Given the description of an element on the screen output the (x, y) to click on. 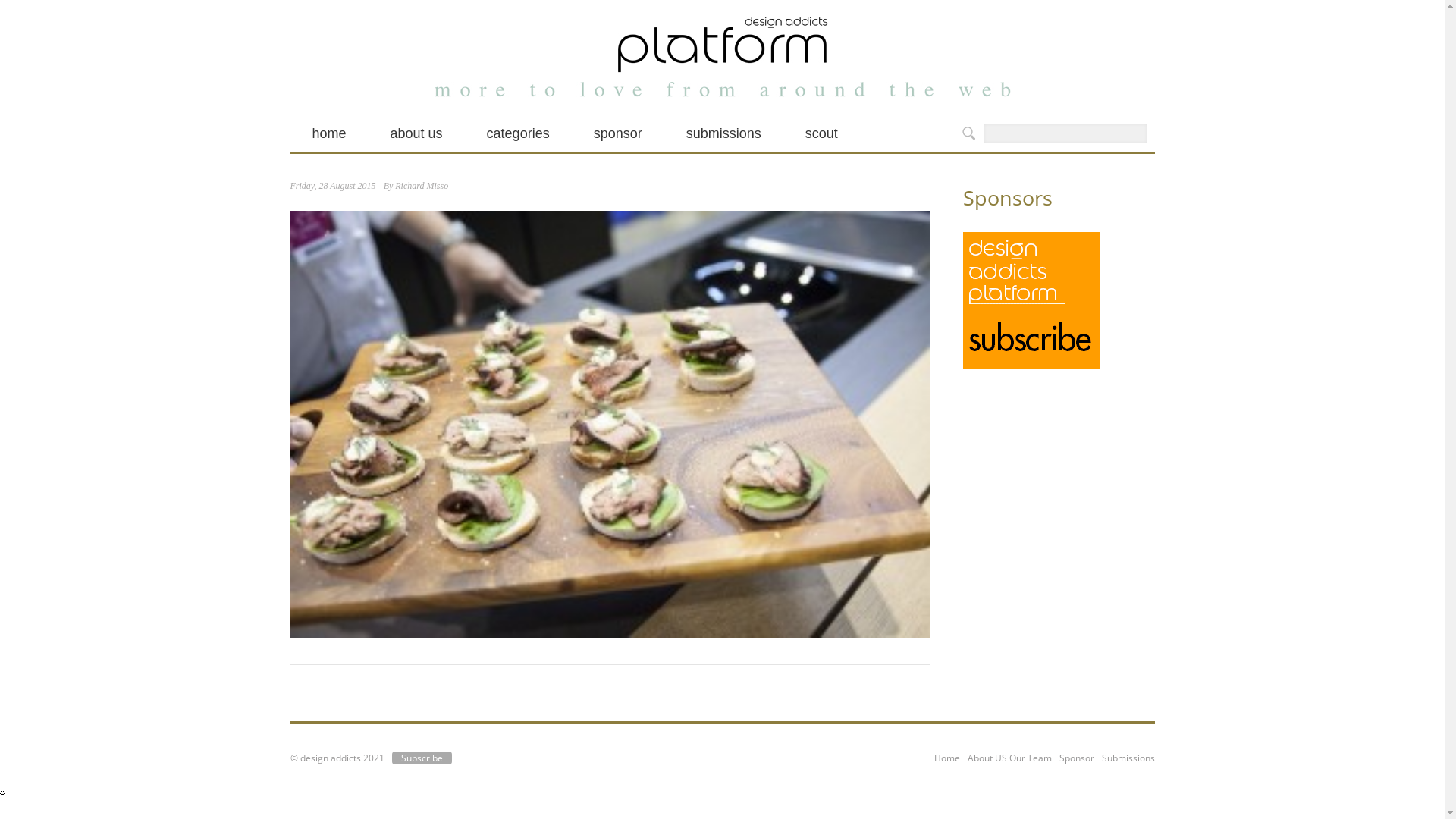
Richard Misso Element type: text (421, 185)
Showcasing the best of Australian and Global Interior Design Element type: hover (722, 43)
submissions Element type: text (723, 133)
GO Element type: text (967, 133)
categories Element type: text (517, 133)
Submissions Element type: text (1127, 757)
scout Element type: text (821, 133)
Sponsor Element type: text (1075, 757)
Subscribe Element type: text (421, 757)
sponsor Element type: text (617, 133)
About US Our Team Element type: text (1009, 757)
home Element type: text (328, 133)
Home Element type: text (947, 757)
about us Element type: text (416, 133)
